Given the description of an element on the screen output the (x, y) to click on. 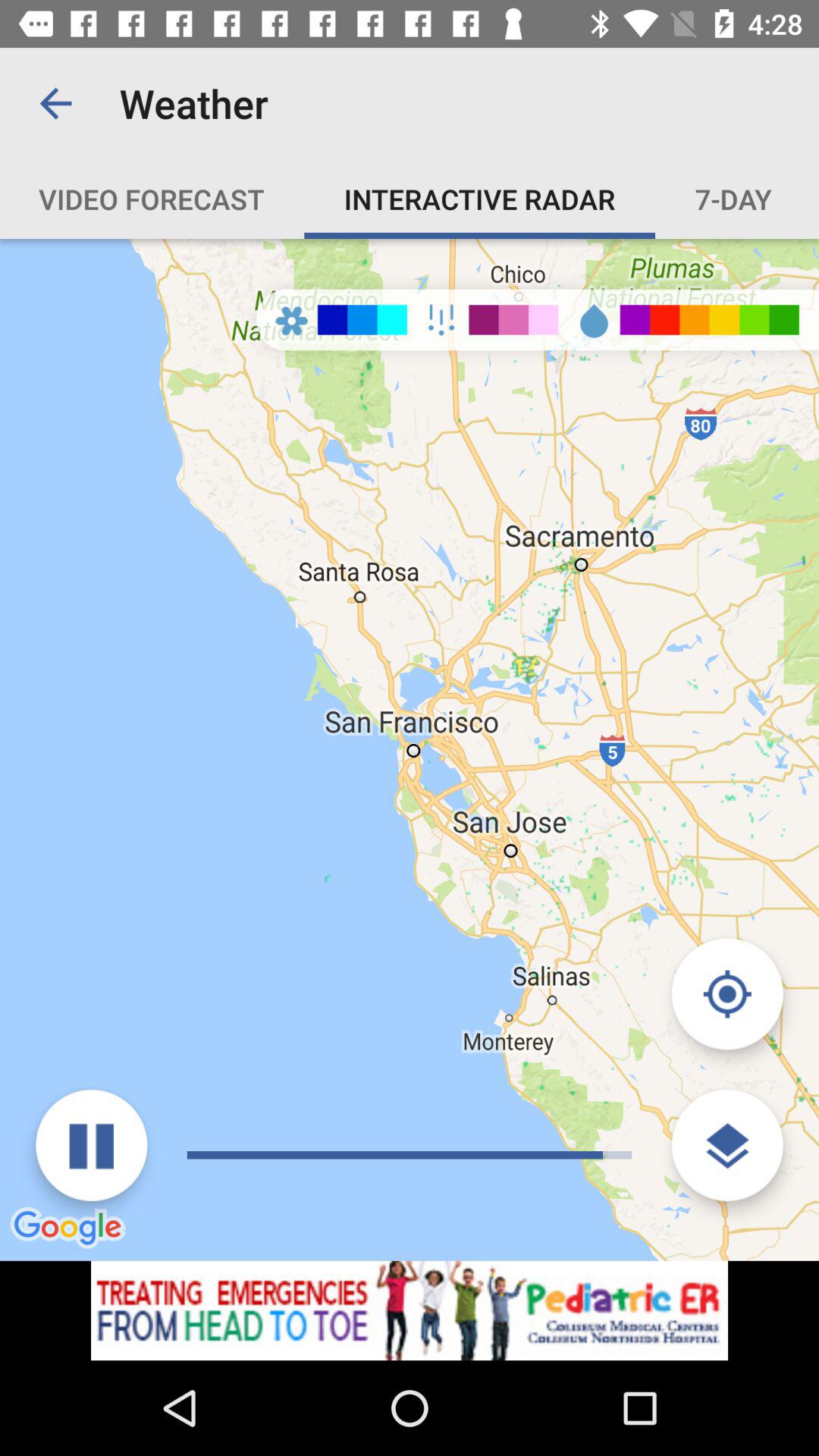
change map terrain (727, 1145)
